Given the description of an element on the screen output the (x, y) to click on. 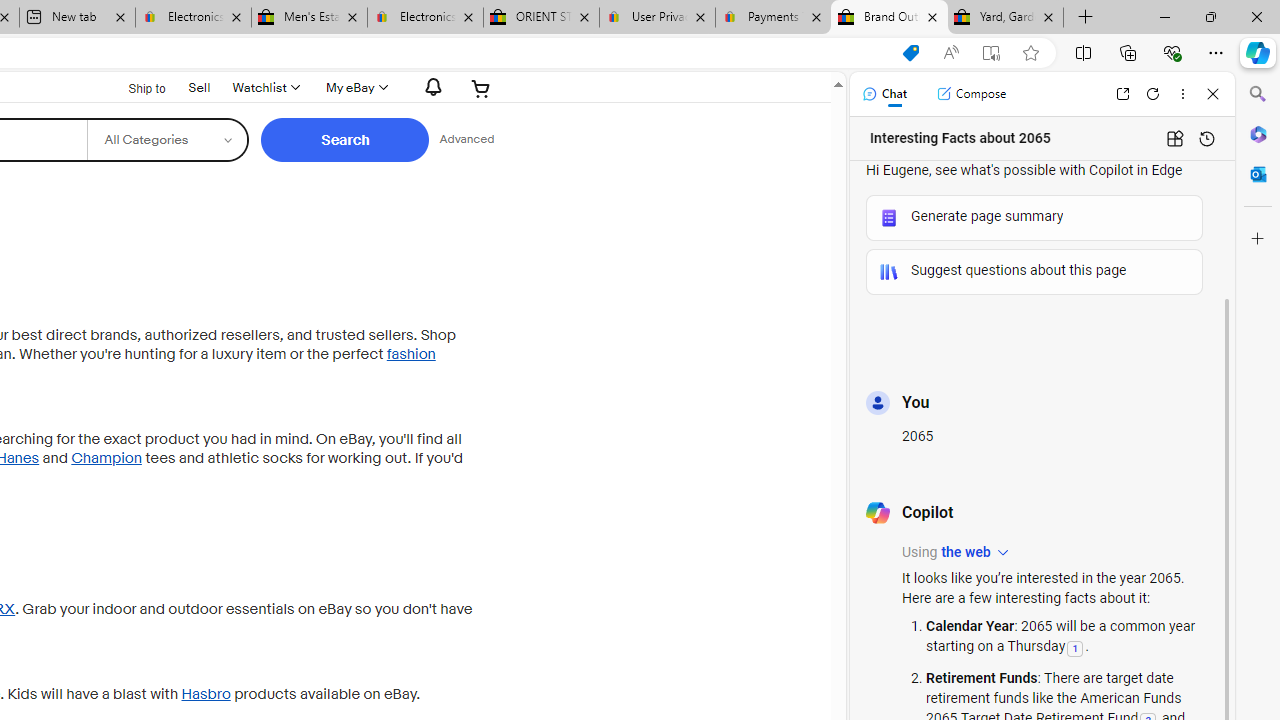
Advanced Search (466, 139)
My eBay (354, 88)
Ship to (134, 89)
WatchlistExpand Watch List (264, 88)
fashion (411, 354)
